Given the description of an element on the screen output the (x, y) to click on. 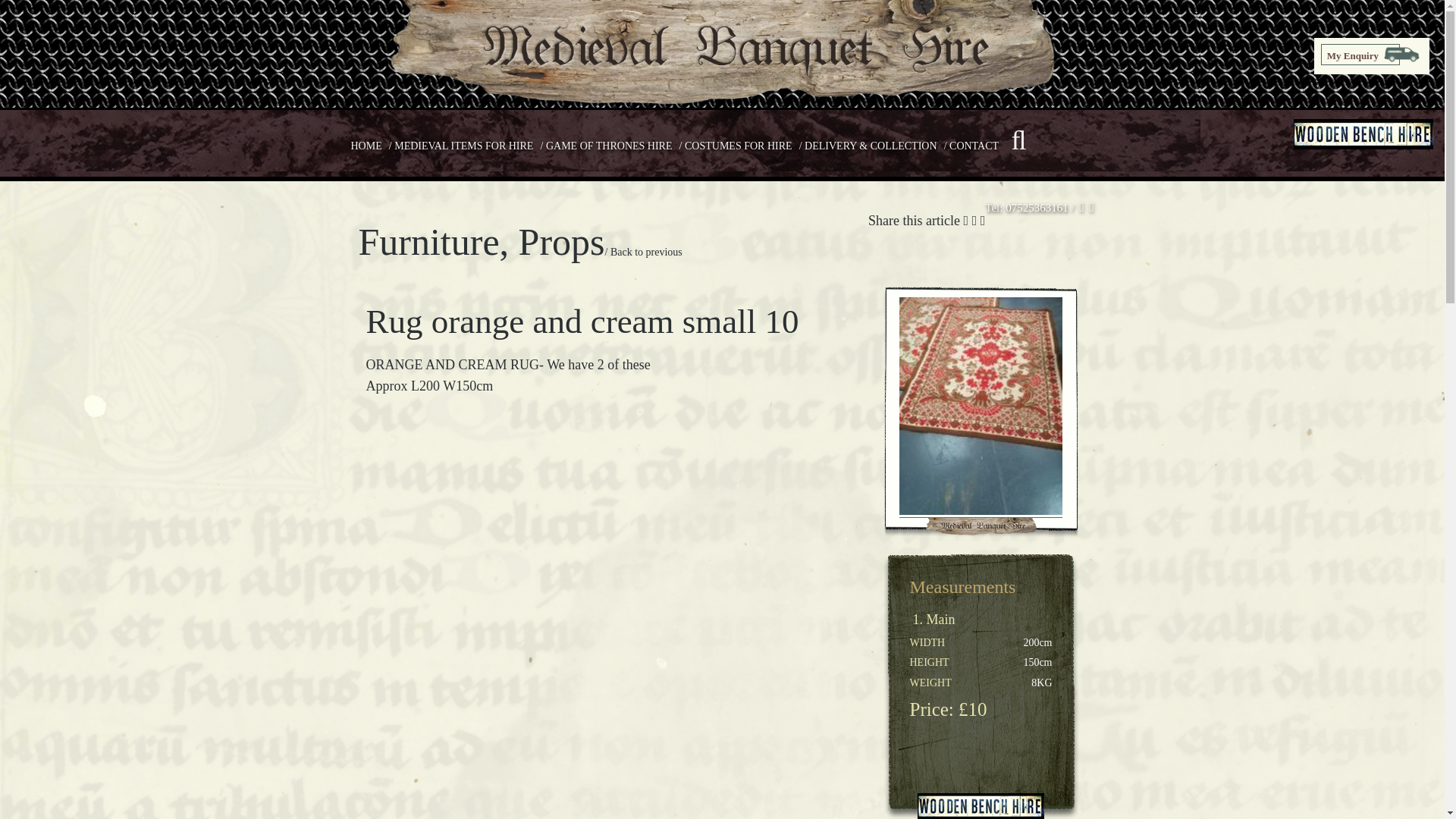
GO (973, 207)
My Enquiry (1359, 54)
MEDIEVAL ITEMS FOR HIRE (463, 145)
Furniture (428, 241)
07525363161 (1037, 207)
GAME OF THRONES HIRE (609, 145)
COSTUMES FOR HIRE (738, 145)
Props (561, 241)
